Given the description of an element on the screen output the (x, y) to click on. 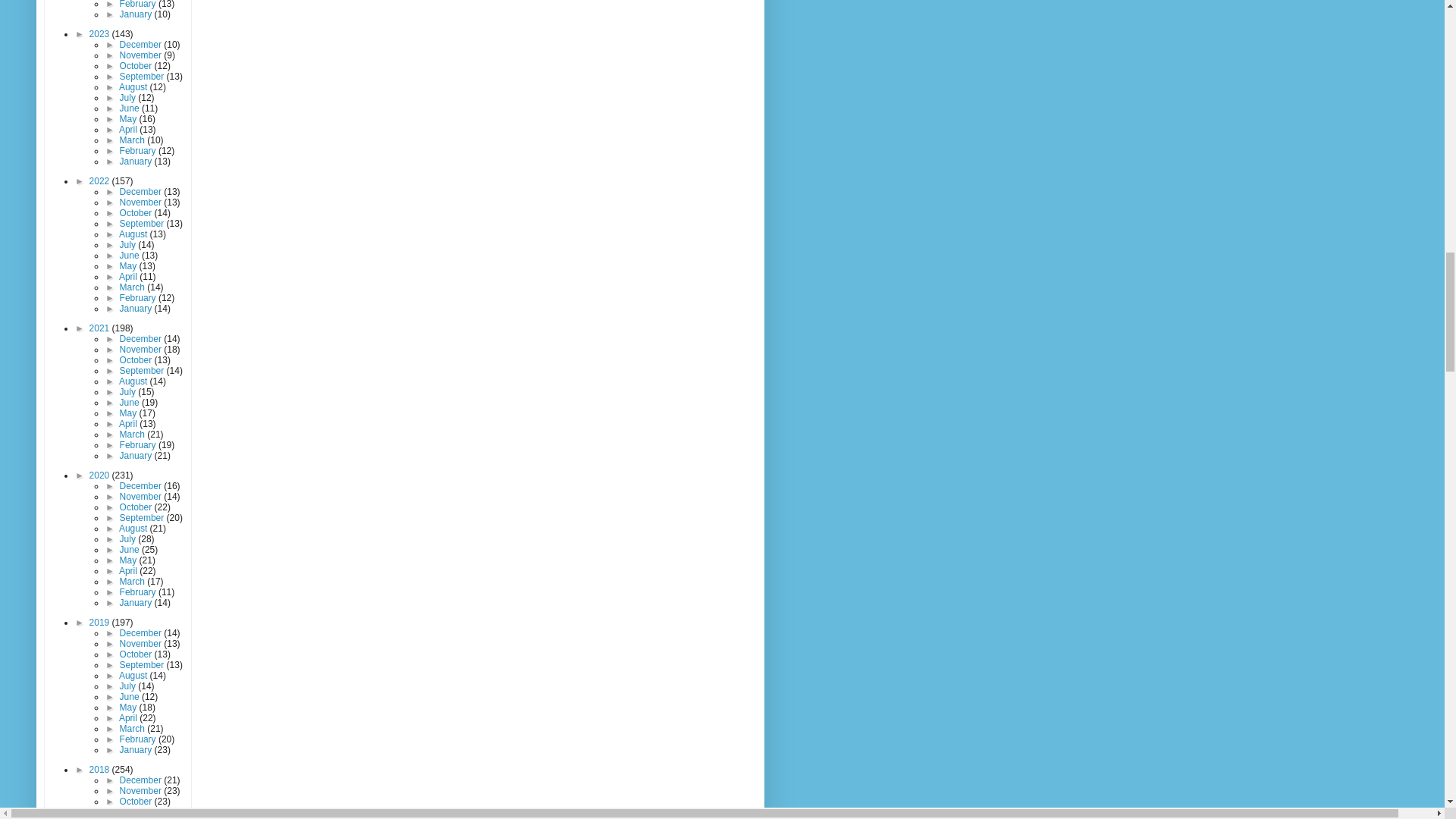
February (138, 4)
